Given the description of an element on the screen output the (x, y) to click on. 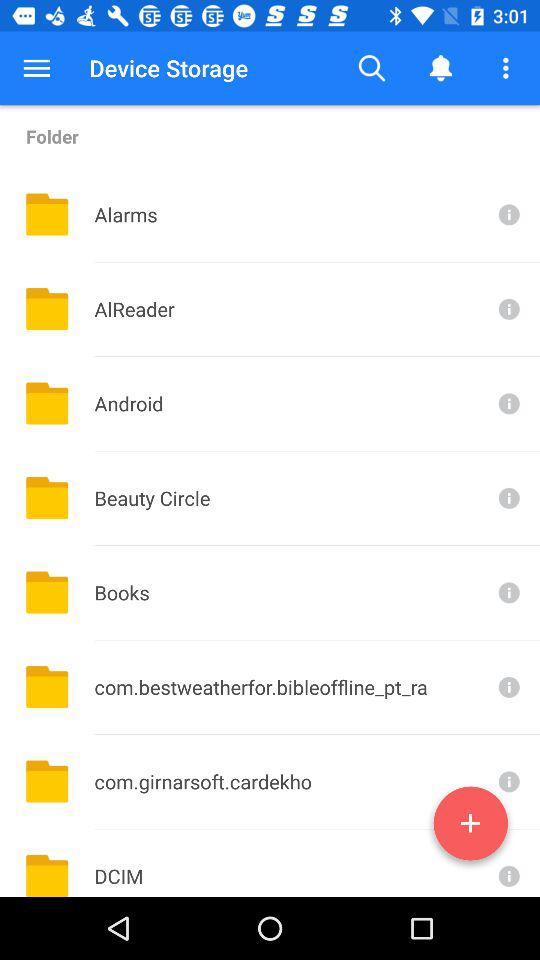
more info about books (507, 592)
